Given the description of an element on the screen output the (x, y) to click on. 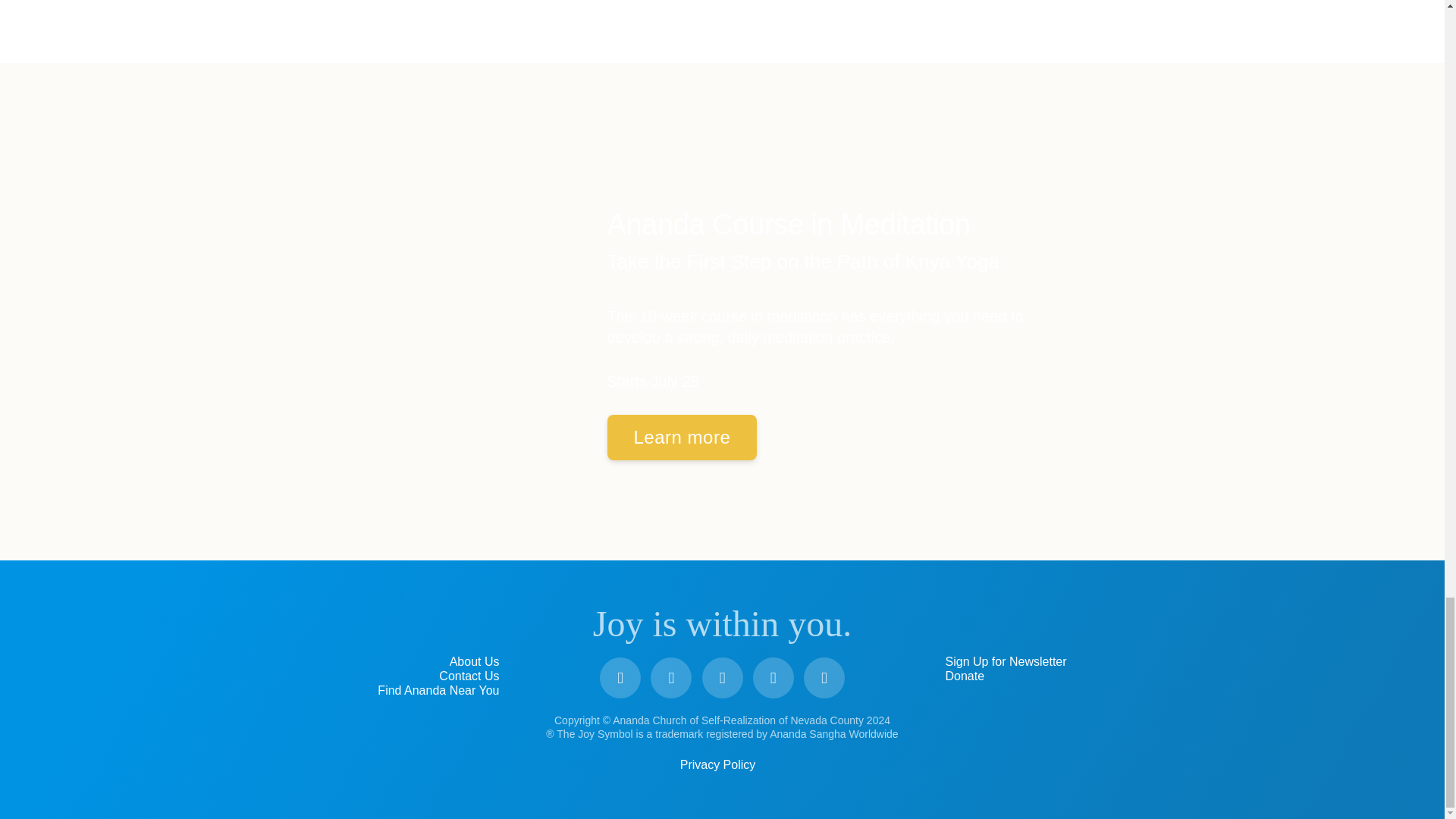
YouTube (670, 677)
Facebook (619, 677)
Pinterest (772, 677)
Instagram (721, 677)
RSS (823, 677)
